Given the description of an element on the screen output the (x, y) to click on. 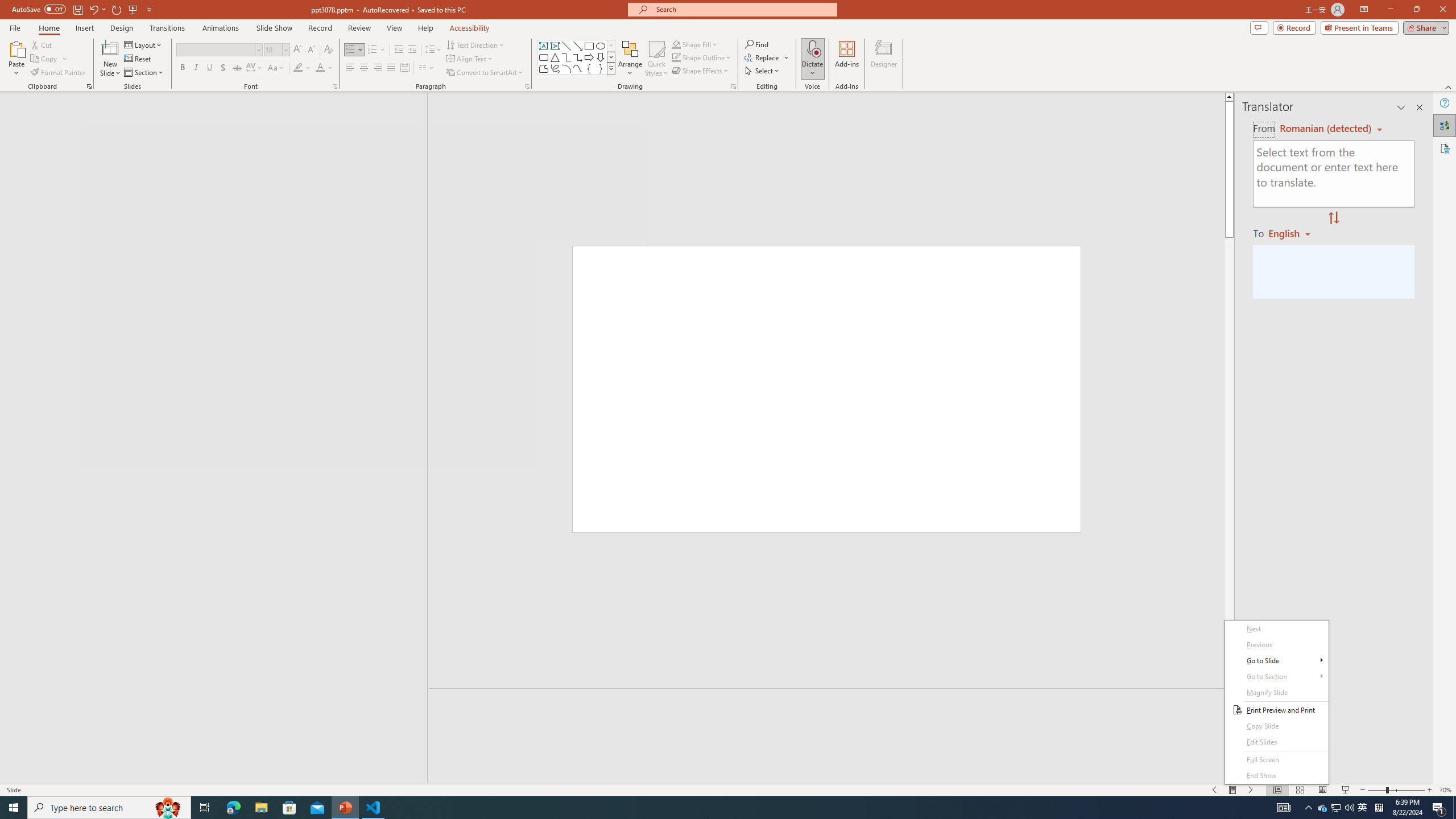
WeChat (1362, 807)
